Given the description of an element on the screen output the (x, y) to click on. 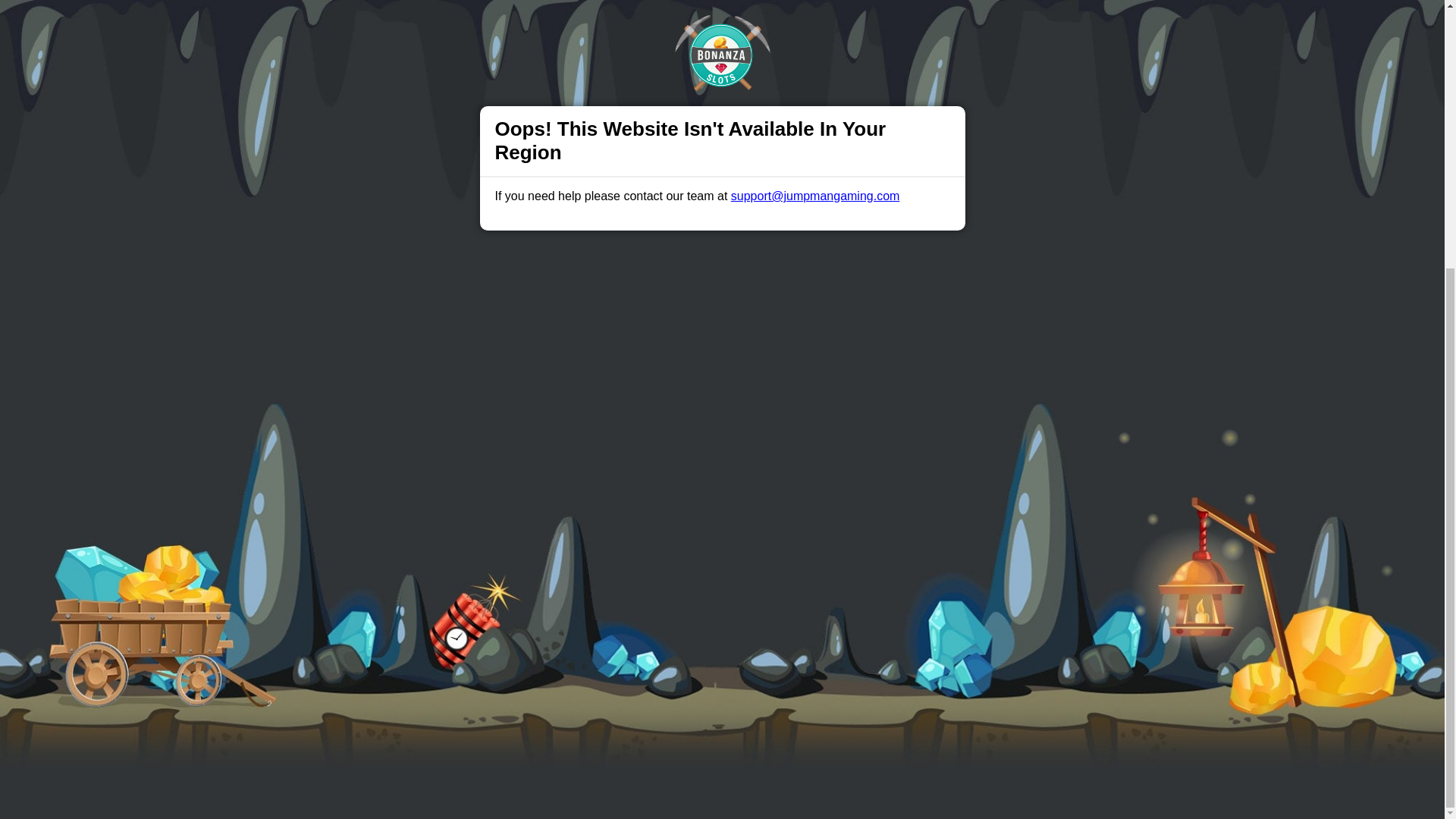
Back To All Games (721, 393)
Back To All Games (722, 393)
Privacy Policy (671, 491)
Cookie Policy (800, 410)
www.jumpmancares.co.uk (738, 657)
www.begambleaware.org (615, 657)
Responsible Gaming (407, 491)
Jumpman Gaming Limited (532, 694)
Help (489, 491)
39175 (1007, 694)
Affiliates (791, 491)
Blog (738, 491)
